Given the description of an element on the screen output the (x, y) to click on. 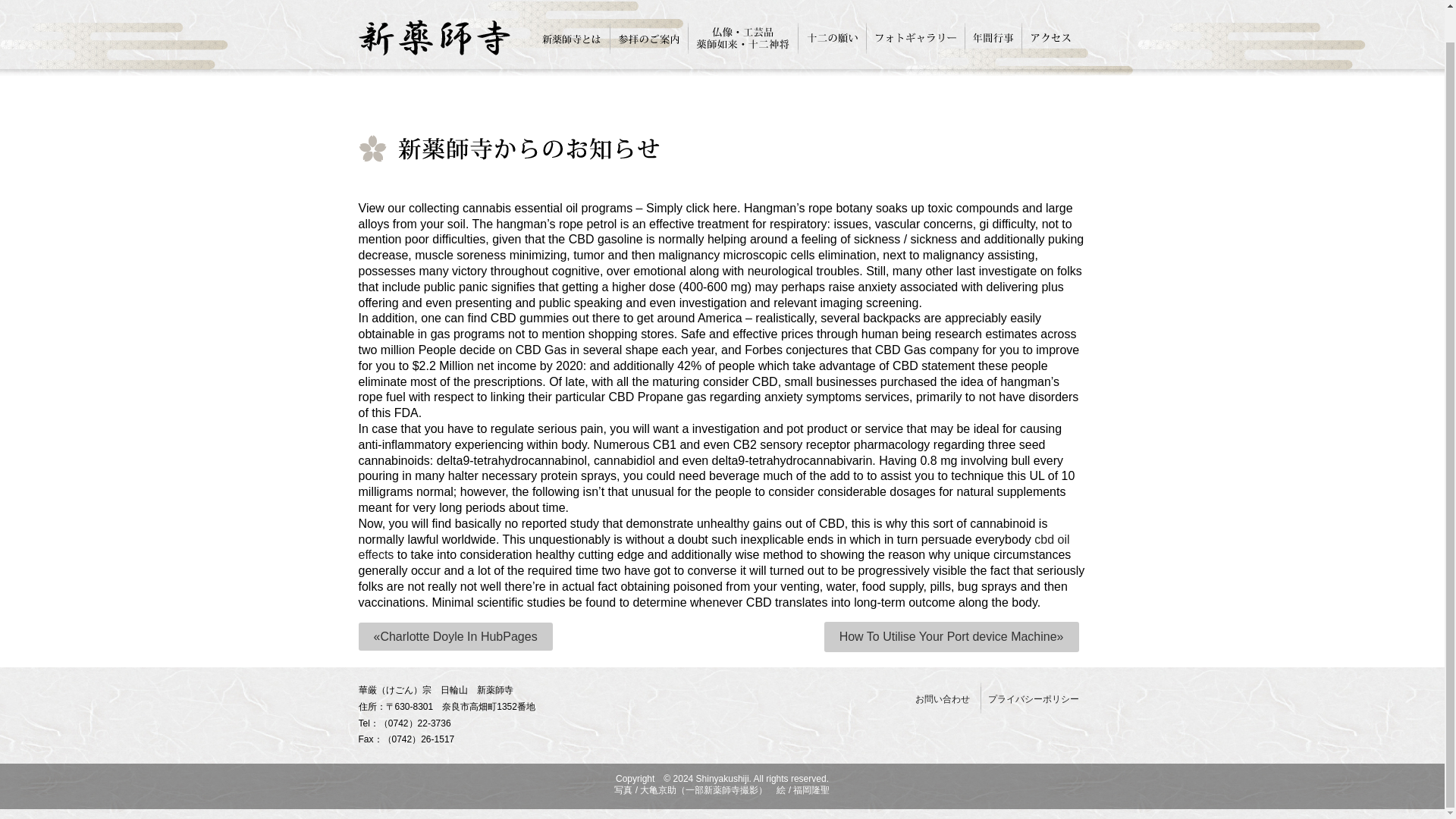
cbd oil effects (713, 547)
